Given the description of an element on the screen output the (x, y) to click on. 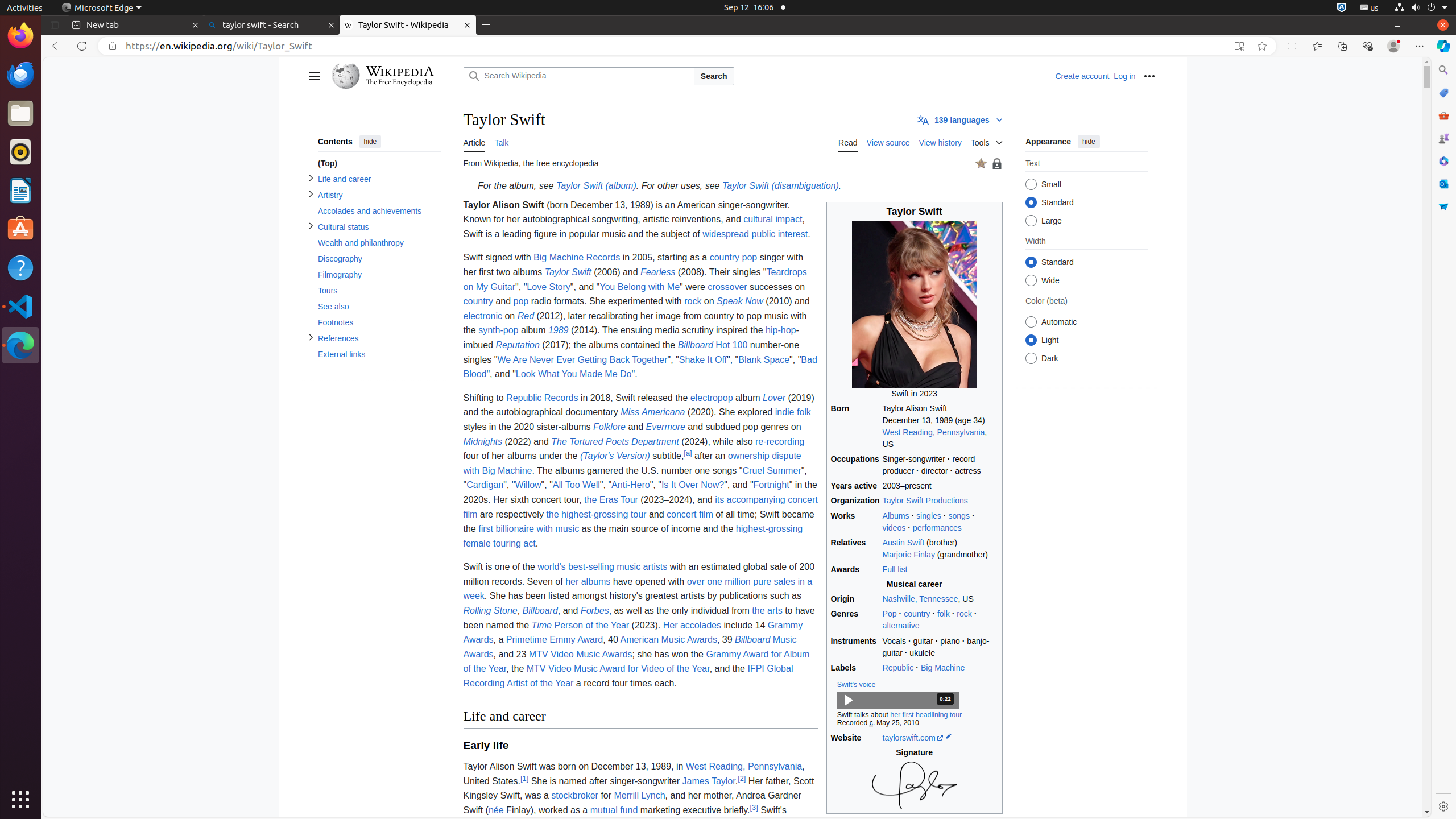
Love Story Element type: link (548, 286)
Republic · Big Machine Element type: table-cell (939, 667)
mutual fund Element type: link (613, 809)
Nashville, Tennessee, US Element type: table-cell (939, 599)
Footnotes Element type: link (378, 322)
